Given the description of an element on the screen output the (x, y) to click on. 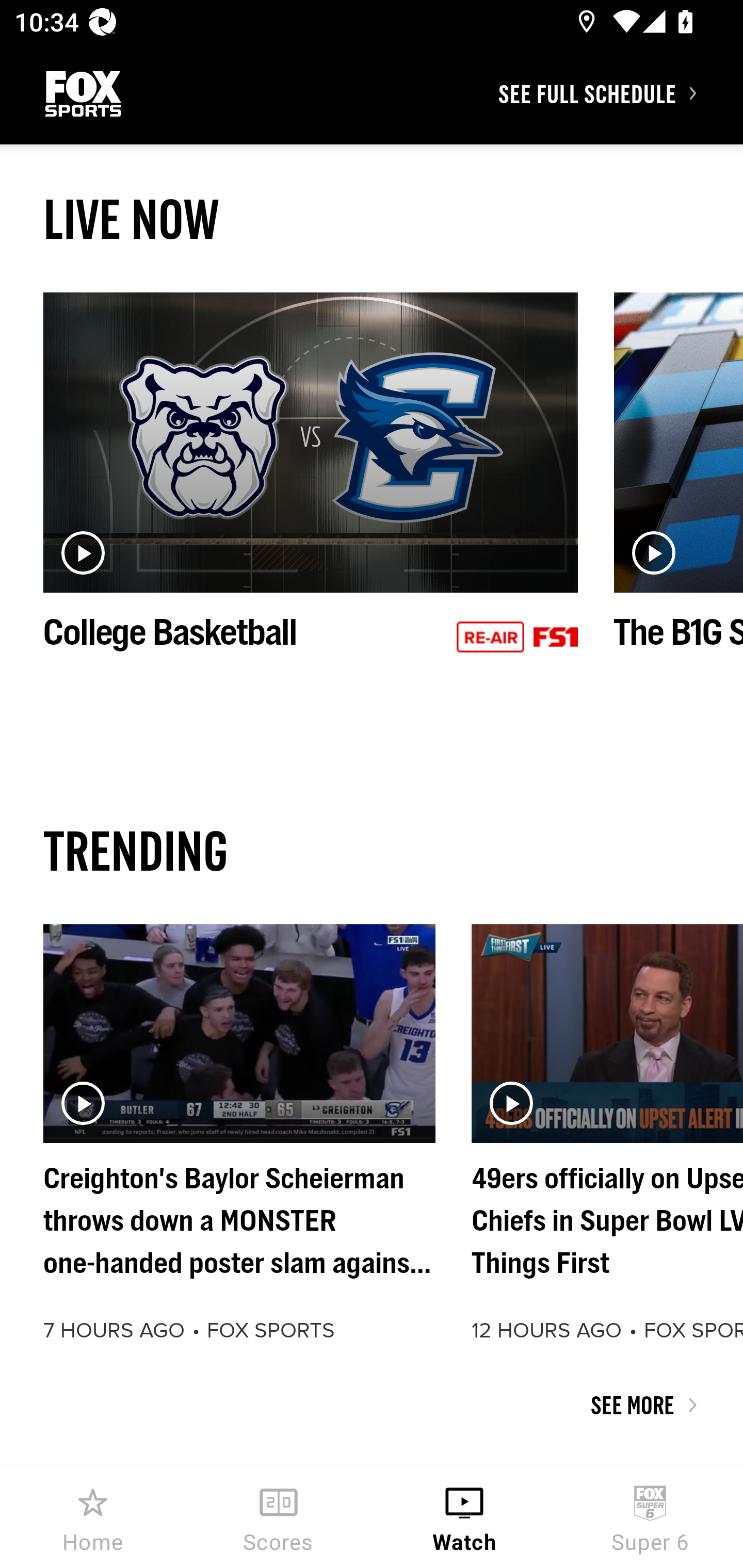
SEE FULL SCHEDULE (620, 93)
LIVE NOW (371, 218)
College Basketball (310, 494)
TRENDING (371, 850)
SEE MORE (371, 1404)
Home (92, 1517)
Scores (278, 1517)
Super 6 (650, 1517)
